Given the description of an element on the screen output the (x, y) to click on. 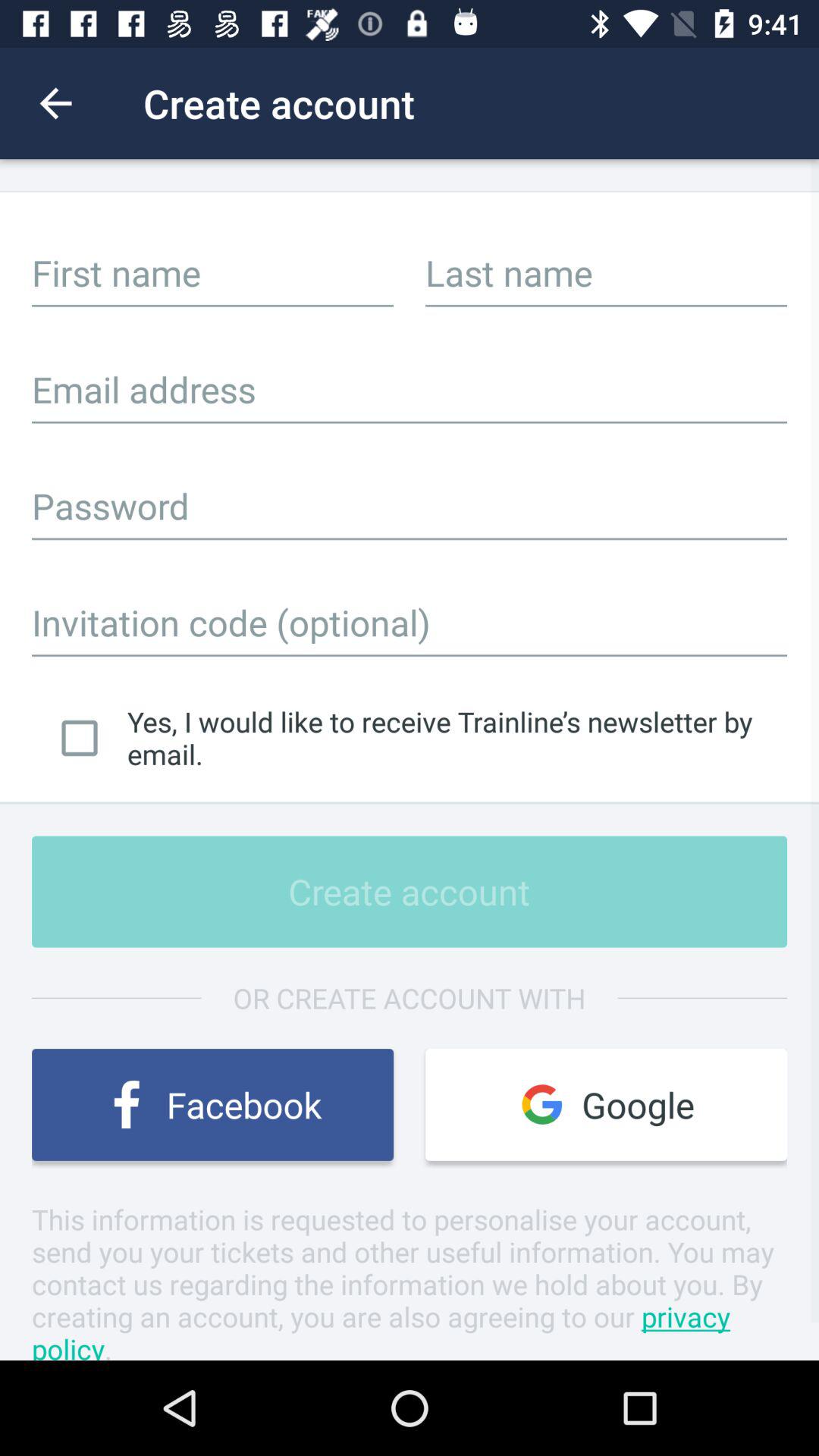
input last name (606, 272)
